Given the description of an element on the screen output the (x, y) to click on. 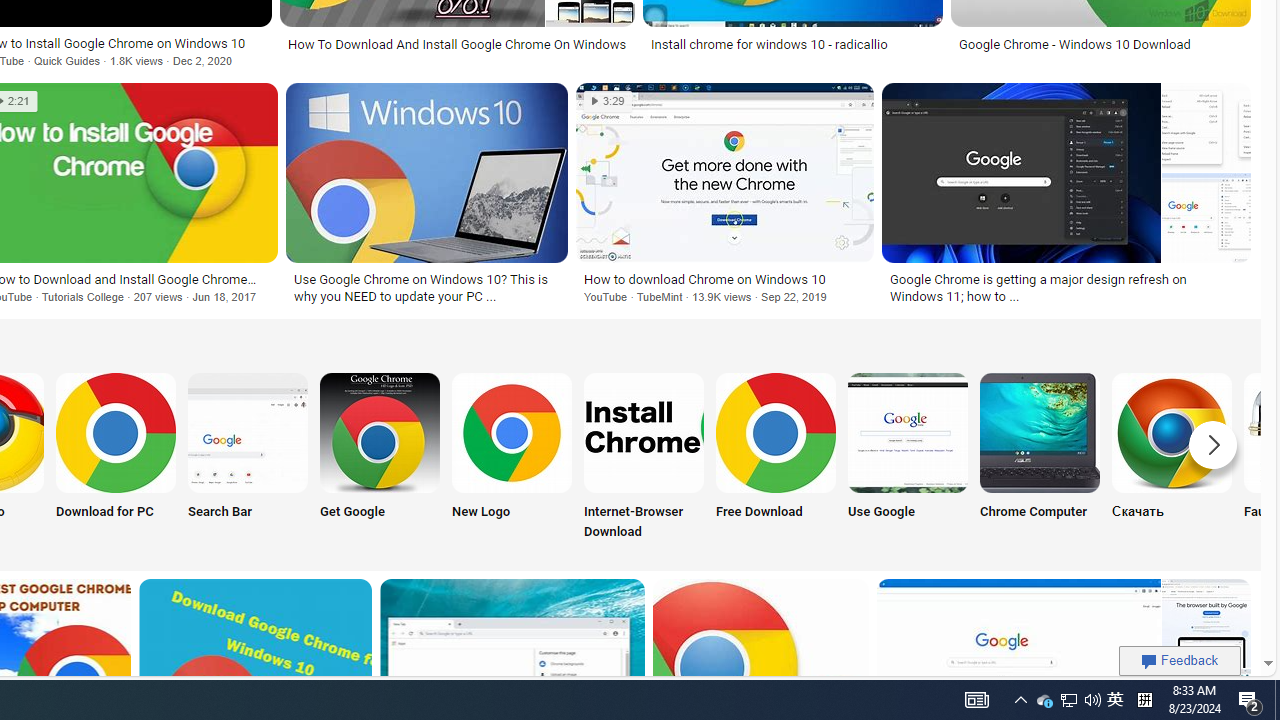
Scroll more suggestions right (1213, 444)
Chrome New Logo New Logo (511, 458)
Use Google Chrome Use Google (907, 458)
Chrome Internet Browser Download Internet-Browser Download (643, 458)
Install chrome for windows 10 - radicallio (769, 44)
Chrome Search Bar (248, 432)
Chrome Download for PC (116, 432)
Download for PC (116, 457)
Image result for Chrome Windows (725, 172)
